Given the description of an element on the screen output the (x, y) to click on. 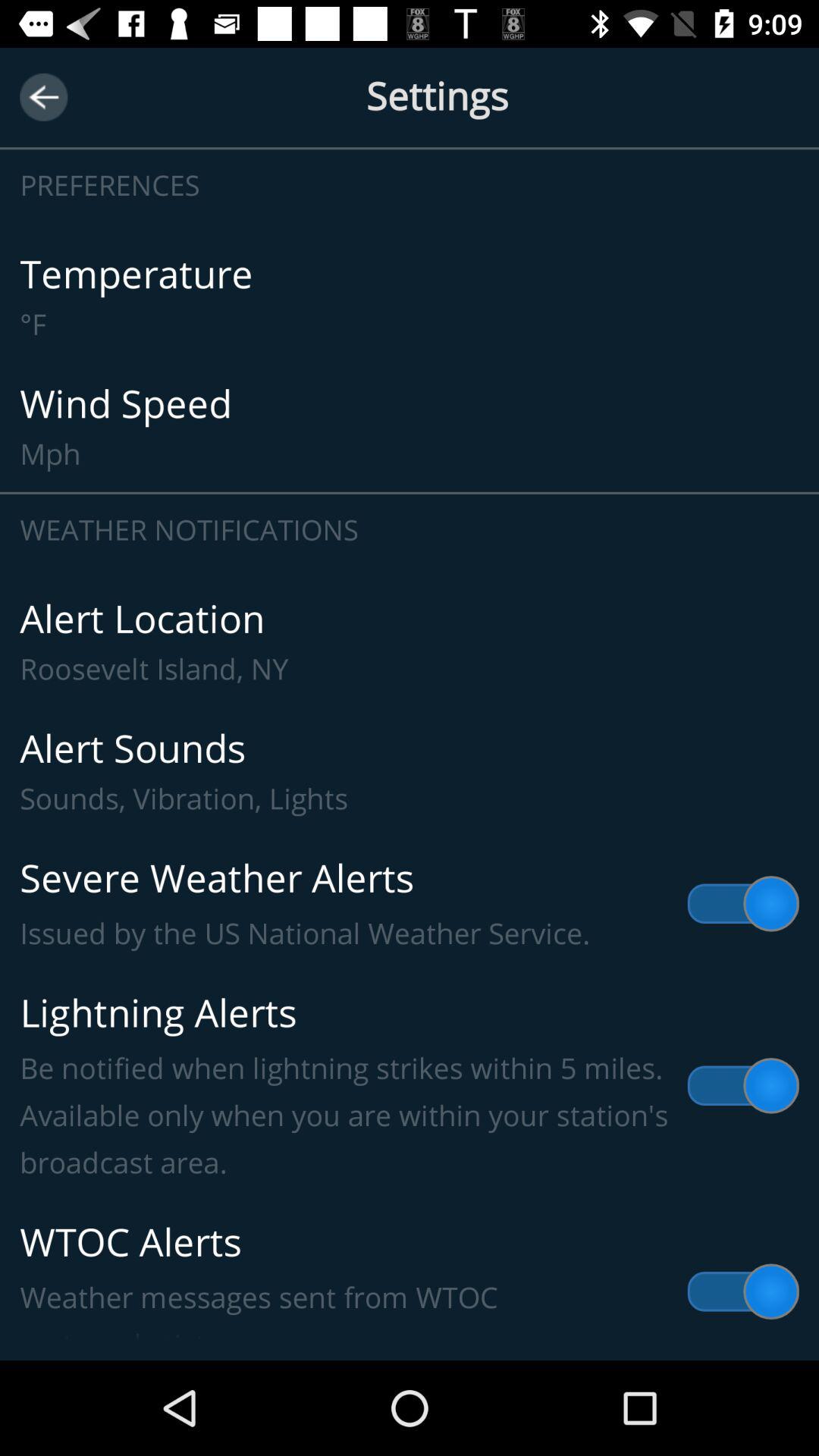
click icon below the severe weather alerts icon (409, 1085)
